Given the description of an element on the screen output the (x, y) to click on. 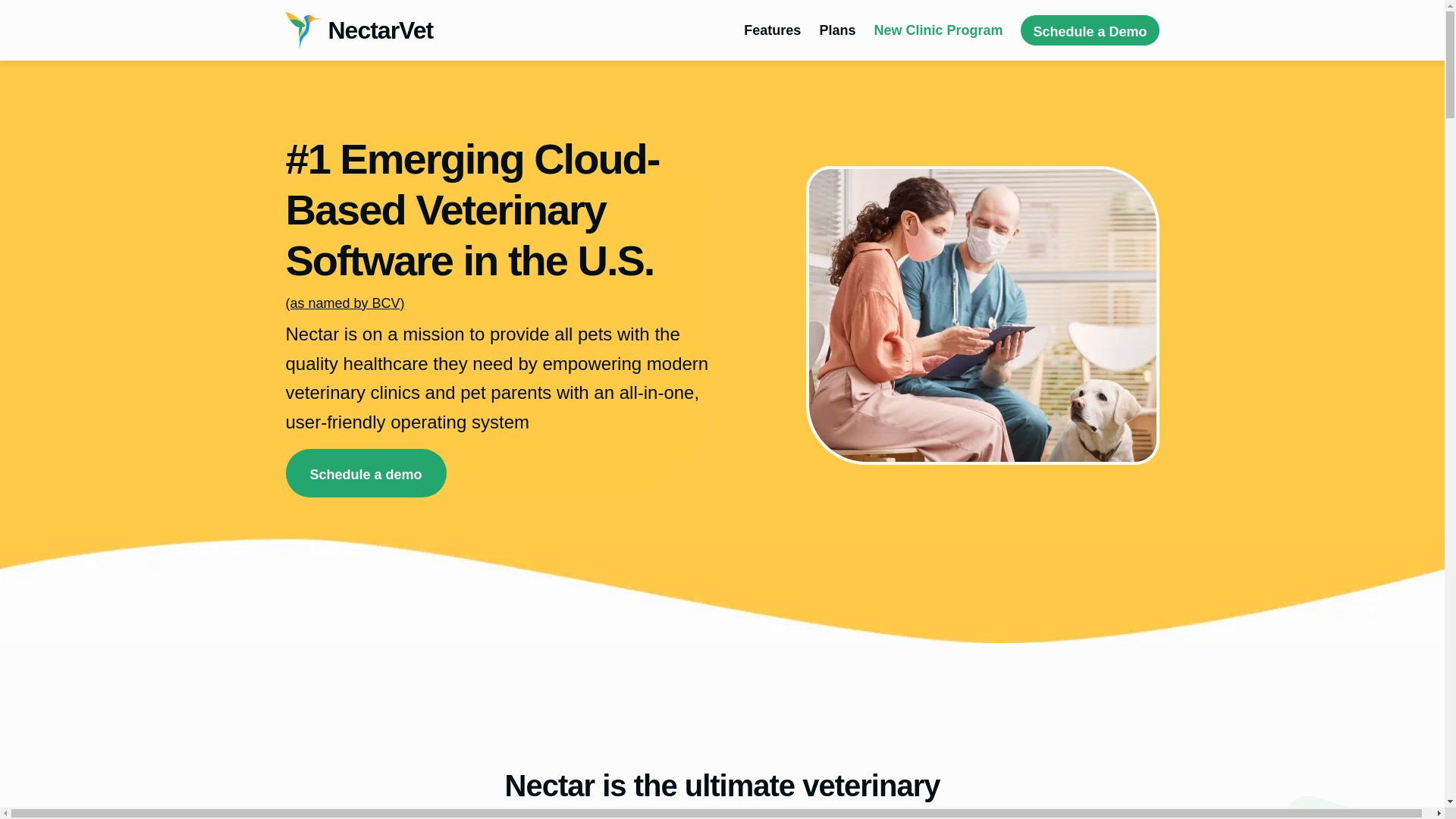
Schedule a Demo (1089, 30)
Plans (837, 29)
Schedule a demo (365, 472)
Features (772, 29)
NectarVet (358, 30)
NectarVet (358, 30)
New Clinic Program (938, 29)
Features (772, 29)
